Given the description of an element on the screen output the (x, y) to click on. 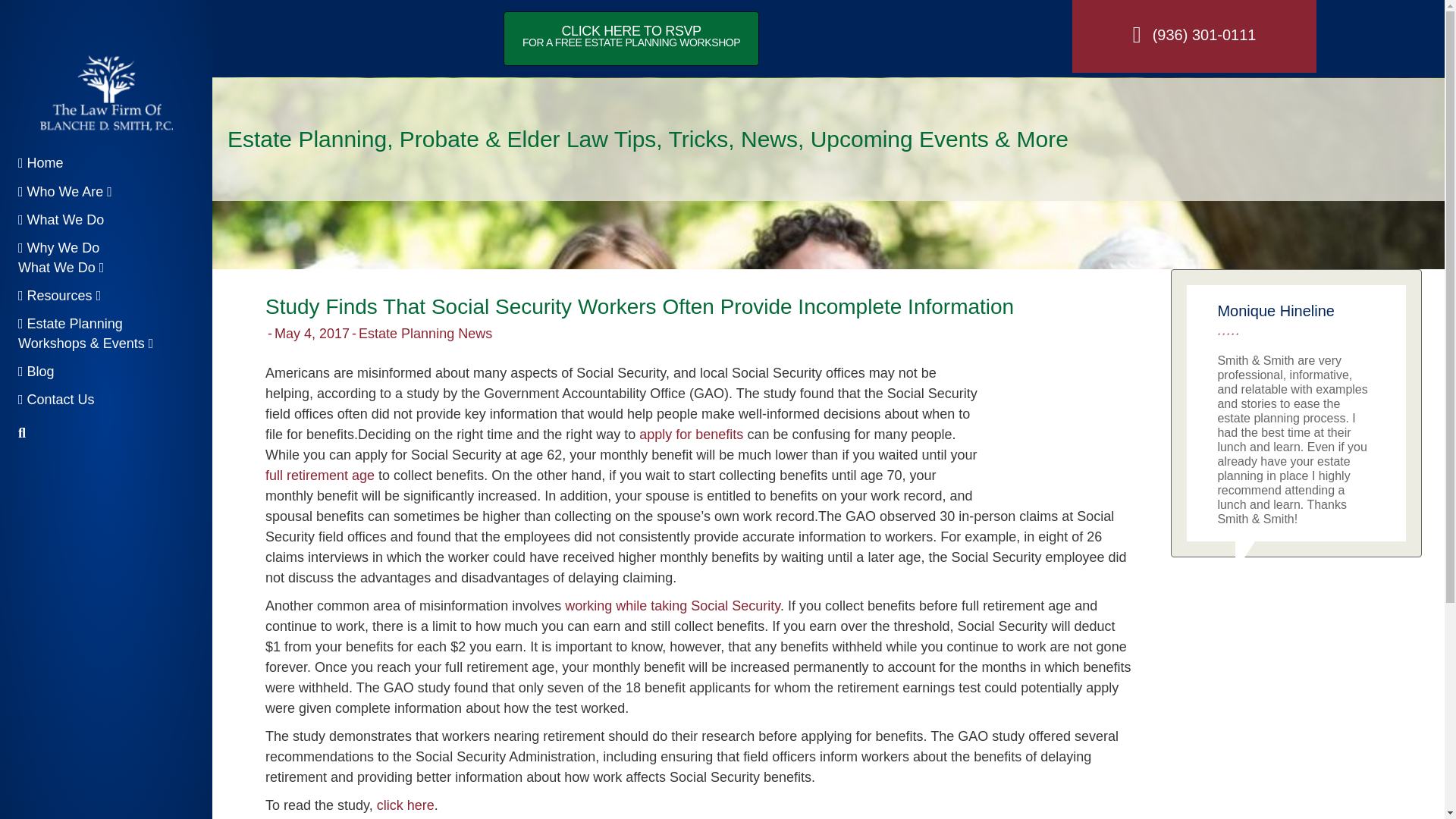
Contact Us (56, 401)
What We Do (61, 221)
Estate Planning News (425, 333)
click here (61, 259)
Resources (405, 805)
SSA (59, 297)
full retirement age (1056, 431)
working while taking Social Security (630, 38)
